Given the description of an element on the screen output the (x, y) to click on. 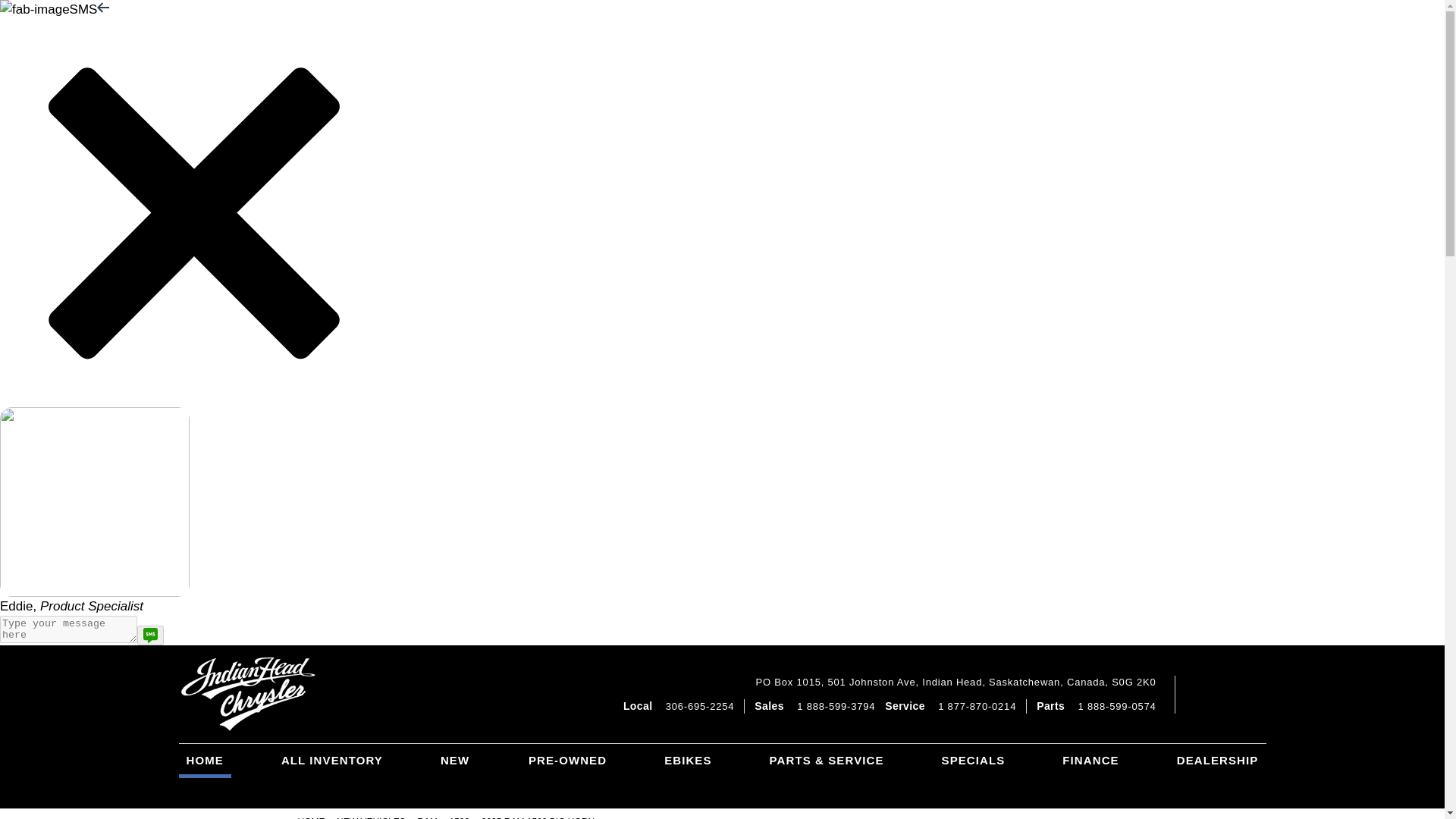
HOME (205, 760)
Parts 1 888-599-0574 (1096, 706)
EBIKES (687, 775)
PRE-OWNED (567, 775)
Sales 1 888-599-3794 (814, 706)
Local 306-695-2254 (678, 706)
Service 1 877-870-0214 (950, 706)
ALL INVENTORY (331, 760)
